Given the description of an element on the screen output the (x, y) to click on. 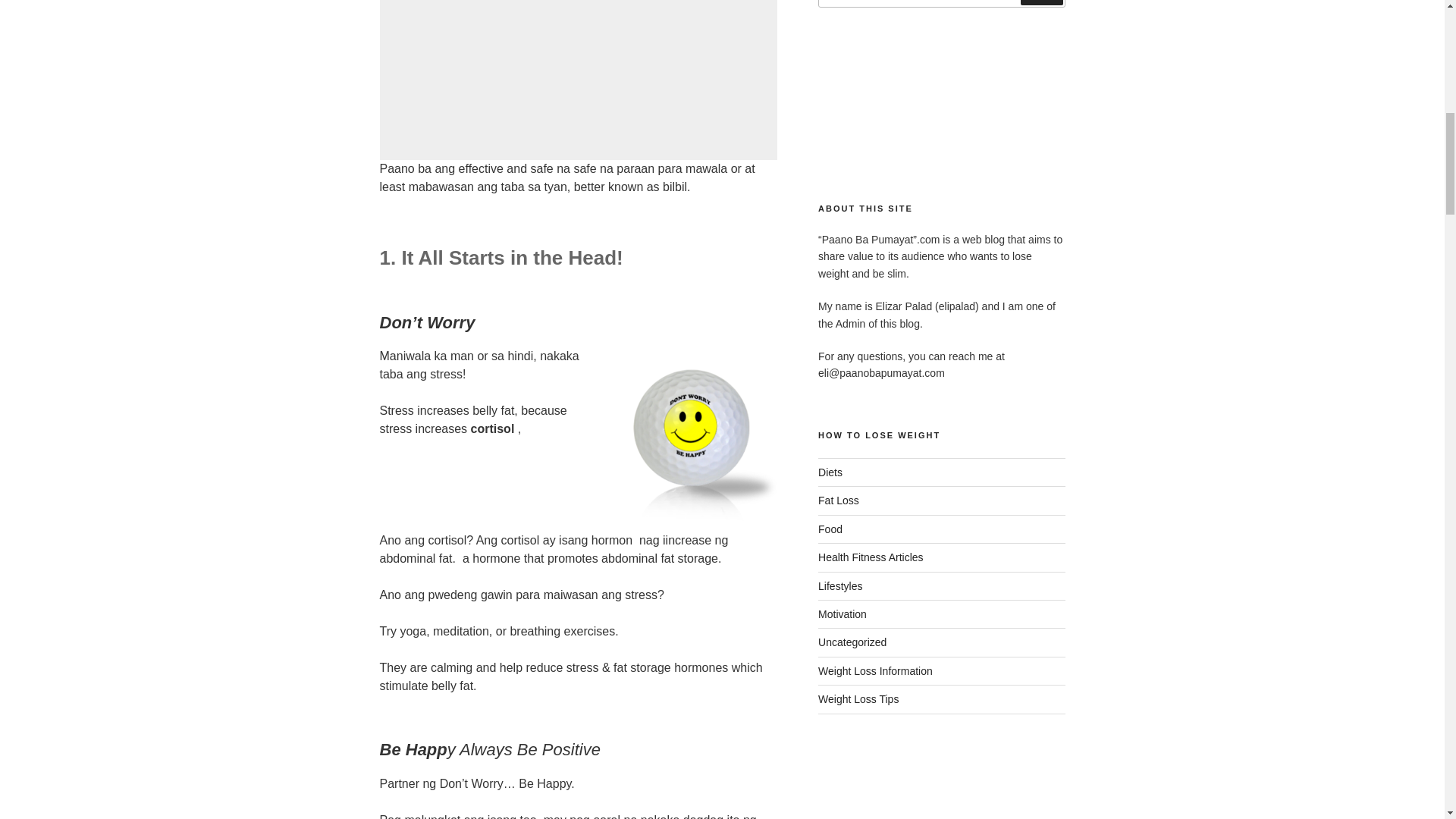
Weight Loss Information (875, 671)
Motivation (842, 613)
Health Fitness Articles (870, 557)
Lifestyles (839, 585)
Advertisement (578, 79)
Fat Loss (838, 500)
Weight Loss Tips (858, 698)
Search (1041, 2)
Food (830, 529)
Diets (830, 472)
